Given the description of an element on the screen output the (x, y) to click on. 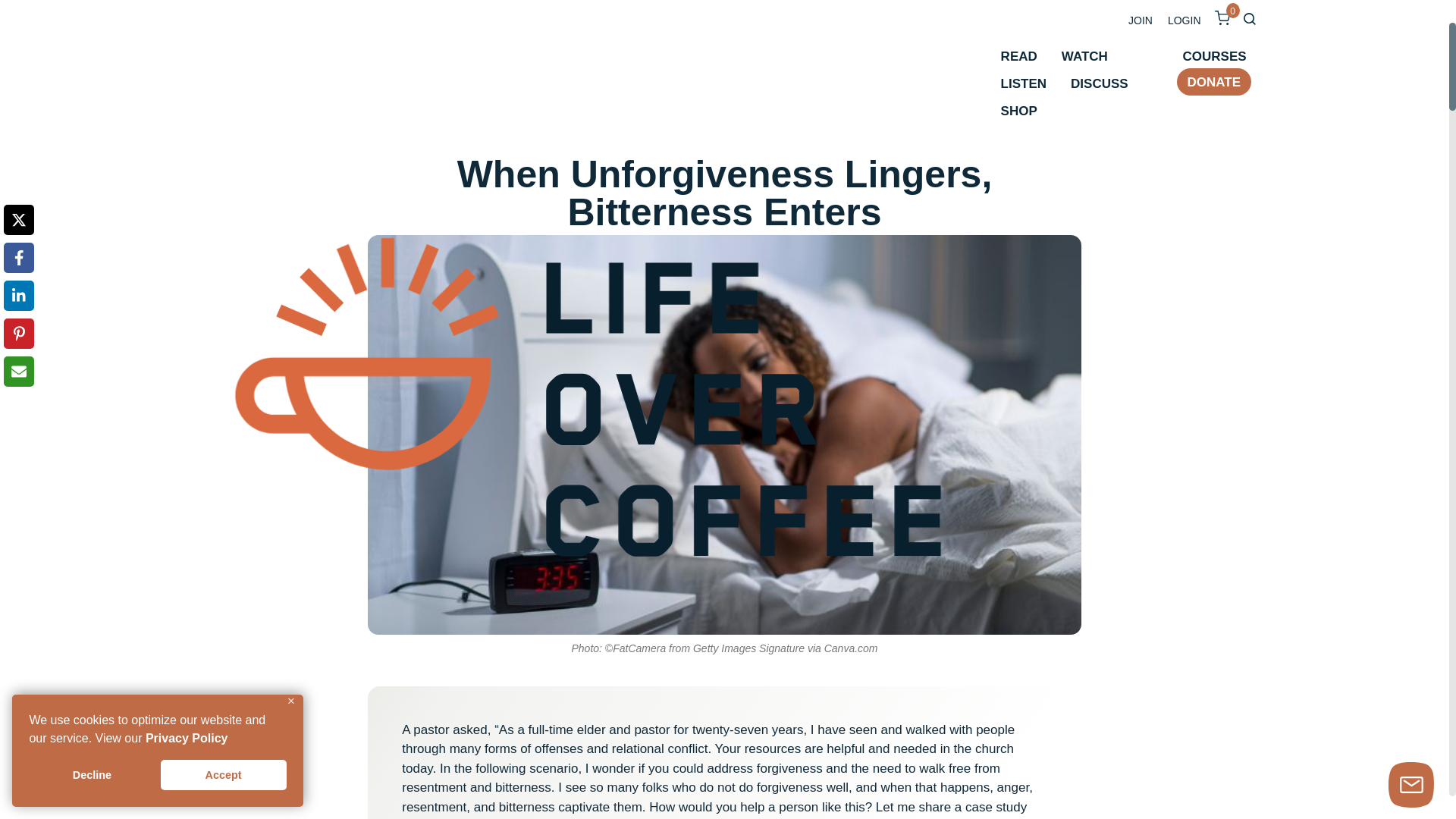
LOGIN (1184, 15)
WATCH (1084, 55)
SHOP (1018, 110)
DISCUSS (1099, 83)
LISTEN (1023, 83)
JOIN (1140, 15)
Decline (91, 775)
READ (1018, 55)
Privacy Policy (186, 738)
Accept (223, 775)
